Given the description of an element on the screen output the (x, y) to click on. 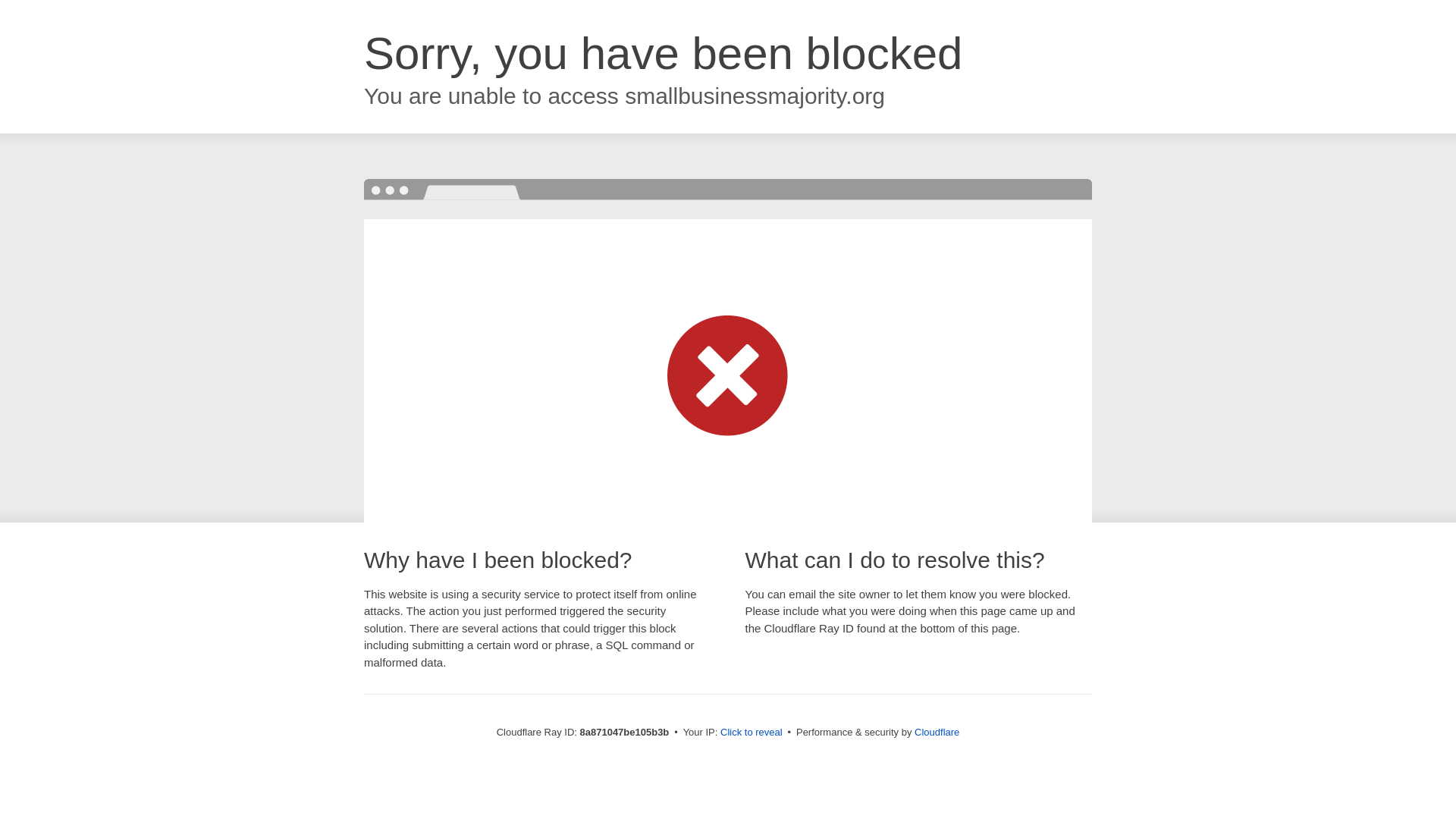
Click to reveal (751, 732)
Cloudflare (936, 731)
